Given the description of an element on the screen output the (x, y) to click on. 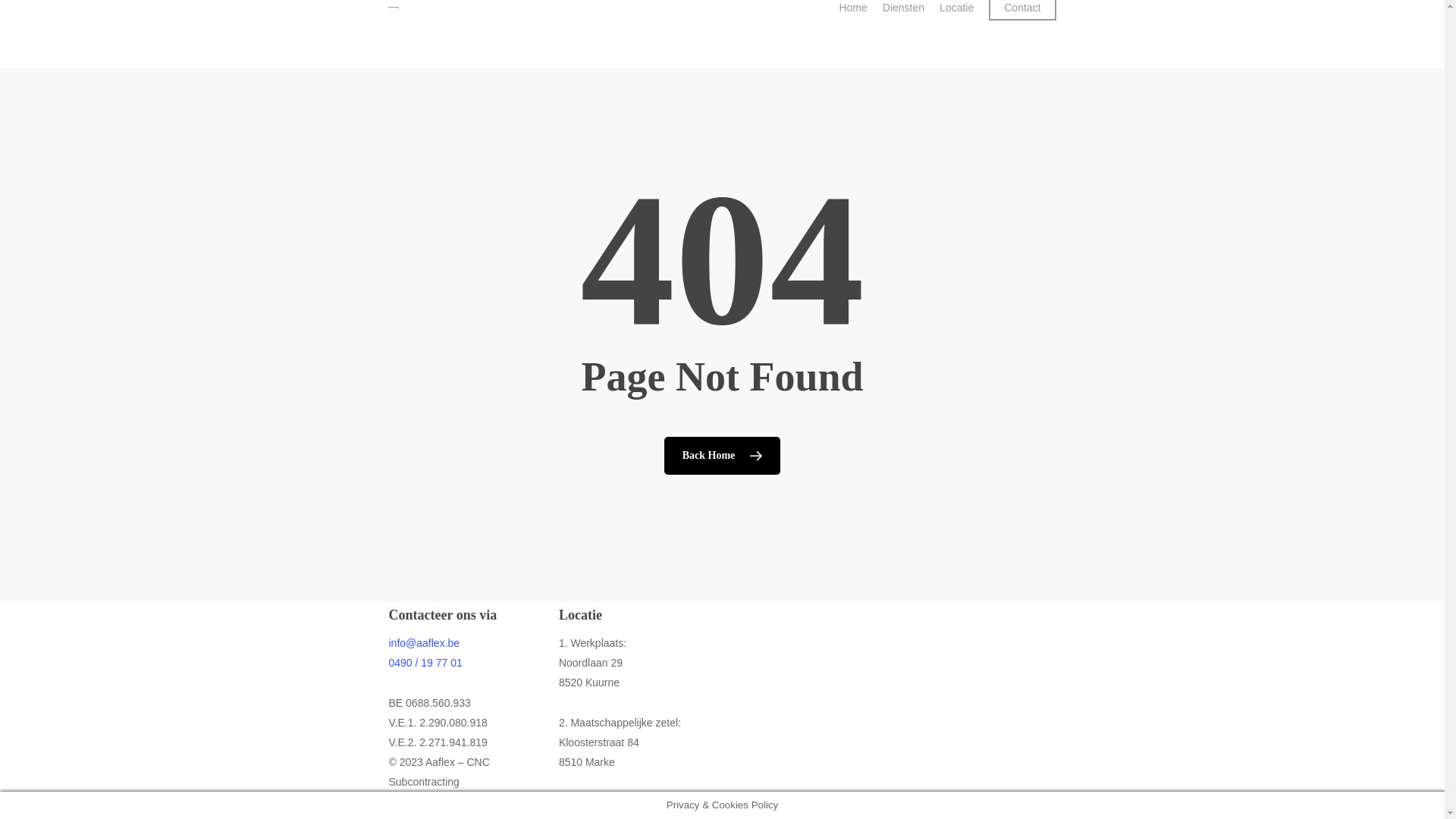
Back Home Element type: text (722, 455)
info@aaflex.be Element type: text (423, 643)
Locatie Element type: text (956, 7)
Diensten Element type: text (903, 7)
0490 / 19 77 01 Element type: text (424, 662)
Home Element type: text (852, 7)
Contact Element type: text (1021, 7)
